Given the description of an element on the screen output the (x, y) to click on. 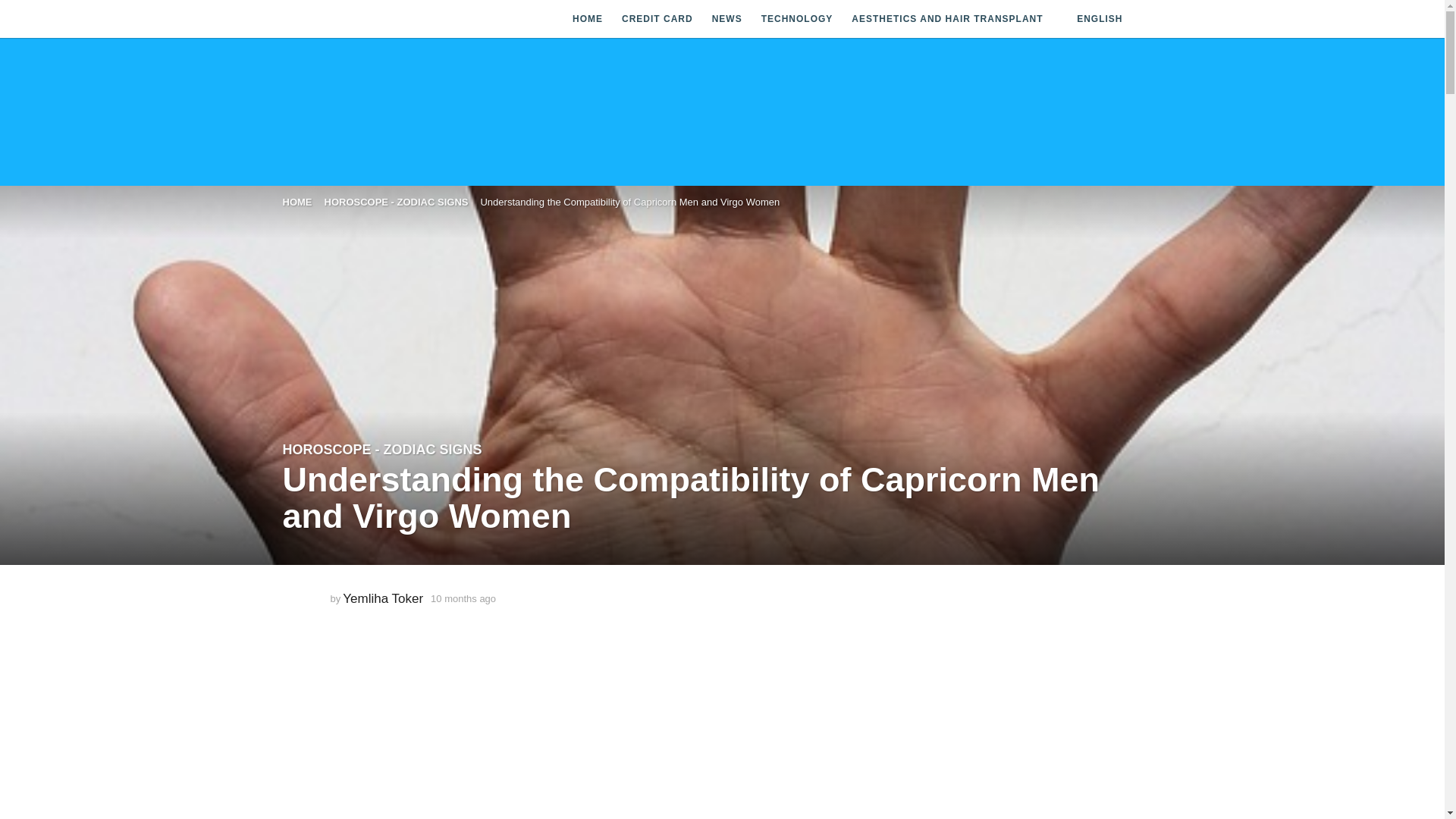
Yemliha Toker (382, 598)
AESTHETICS AND HAIR TRANSPLANT (946, 19)
CREDIT CARD (657, 19)
HOME (587, 19)
HOME (296, 201)
HOROSCOPE - ZODIAC SIGNS (396, 201)
TECHNOLOGY (796, 19)
HOROSCOPE - ZODIAC SIGNS (381, 449)
NEWS (726, 19)
